Given the description of an element on the screen output the (x, y) to click on. 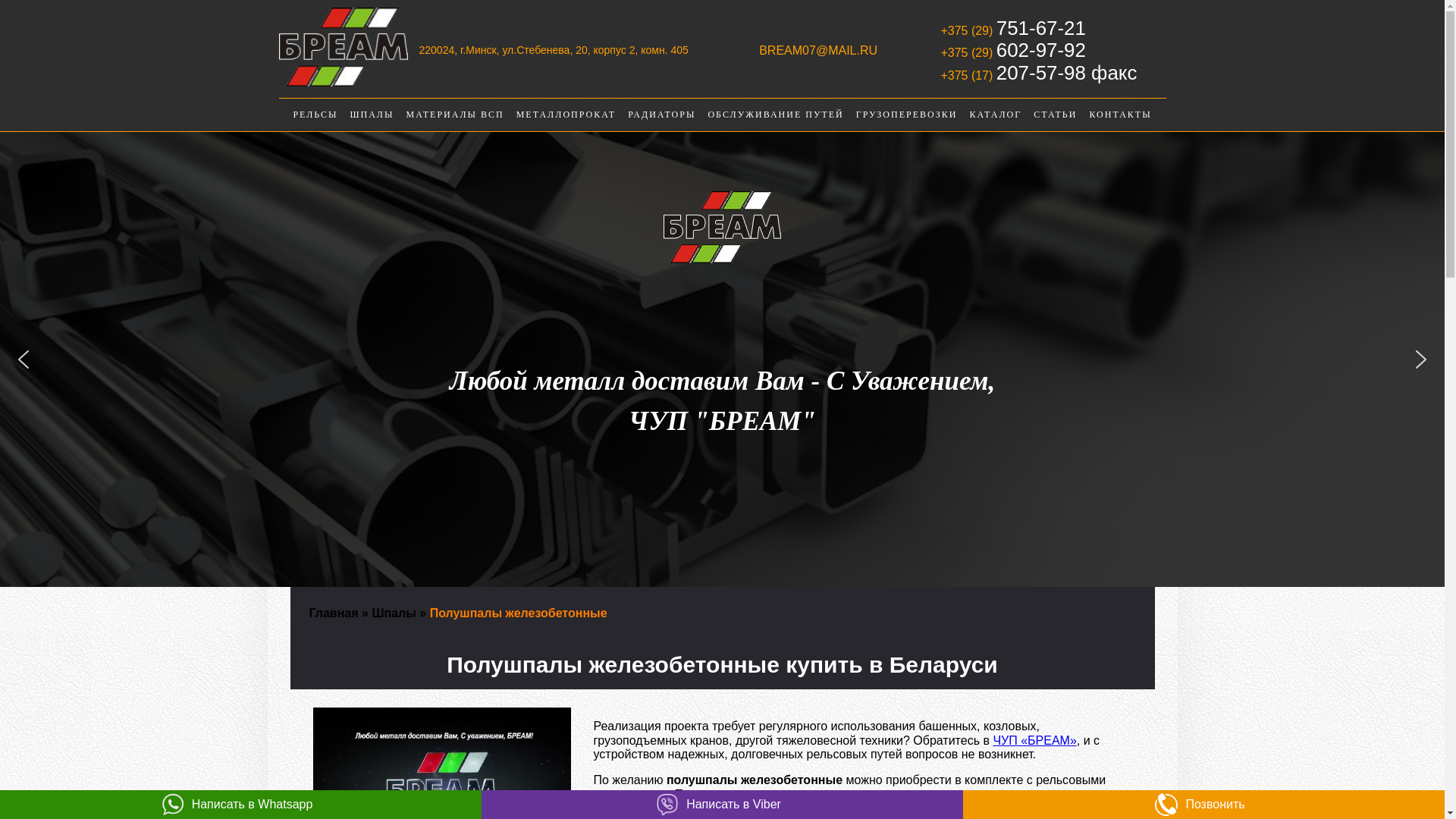
+375 (29) 602-97-92 Element type: text (1012, 49)
+375 (29) 751-67-21 Element type: text (1012, 27)
BREAM07@MAIL.RU Element type: text (818, 50)
